Given the description of an element on the screen output the (x, y) to click on. 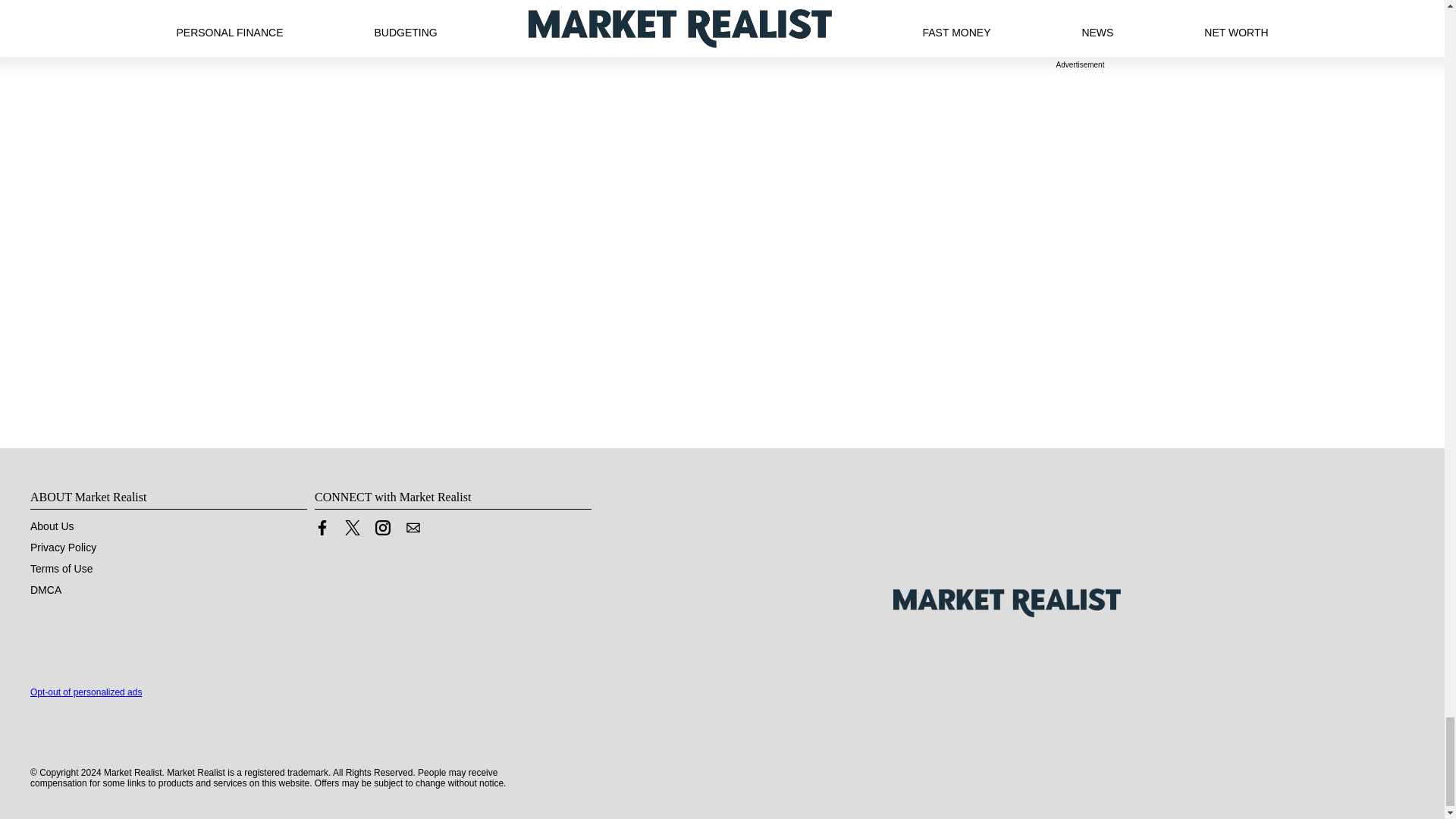
Link to X (352, 527)
Link to Facebook (322, 527)
DMCA (45, 589)
Opt-out of personalized ads (85, 692)
Terms of Use (61, 568)
About Us (52, 526)
DMCA (45, 589)
About Us (52, 526)
Link to Instagram (382, 531)
Privacy Policy (63, 547)
